Given the description of an element on the screen output the (x, y) to click on. 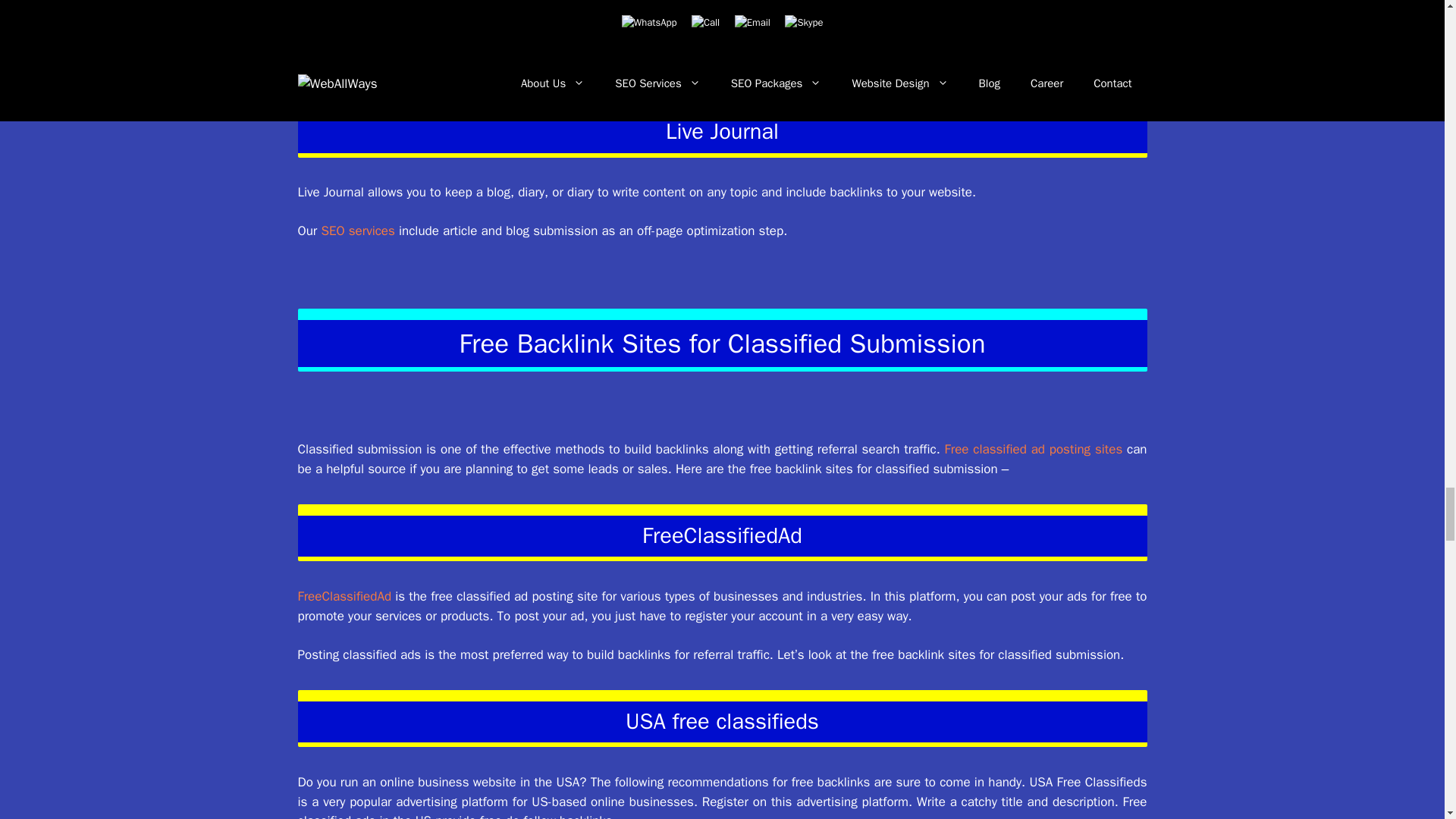
Free classified ad posting sites (1033, 449)
SEO services (357, 230)
FreeClassifiedAd (344, 596)
